Given the description of an element on the screen output the (x, y) to click on. 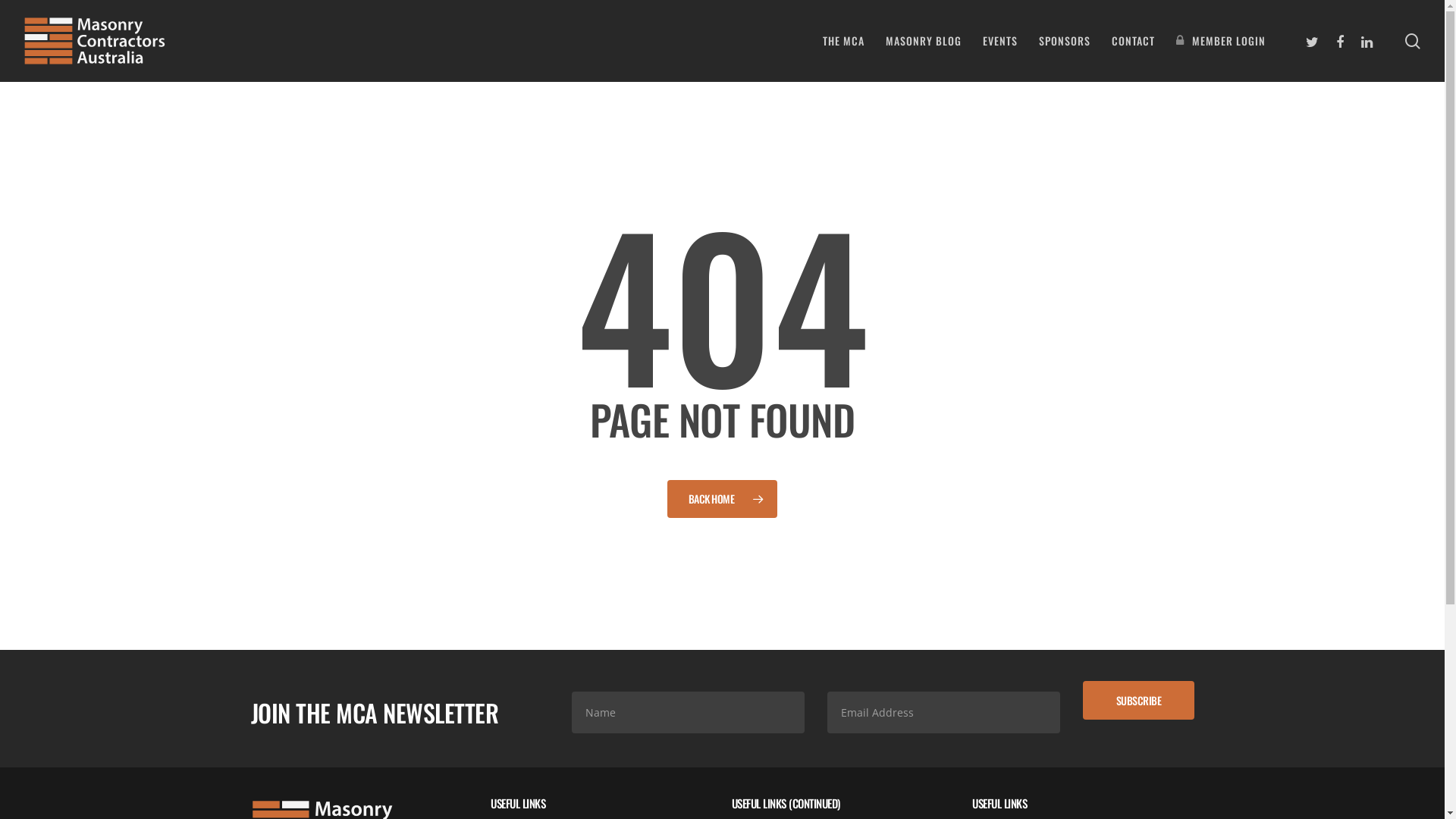
MASONRY BLOG Element type: text (923, 40)
search Element type: text (1412, 41)
EVENTS Element type: text (999, 40)
BACK HOME Element type: text (722, 498)
MEMBER LOGIN Element type: text (1220, 40)
LINKEDIN Element type: text (1366, 40)
TWITTER Element type: text (1312, 40)
Subscribe Element type: text (1138, 699)
FACEBOOK Element type: text (1339, 40)
THE MCA Element type: text (843, 40)
SPONSORS Element type: text (1064, 40)
CONTACT Element type: text (1132, 40)
